Given the description of an element on the screen output the (x, y) to click on. 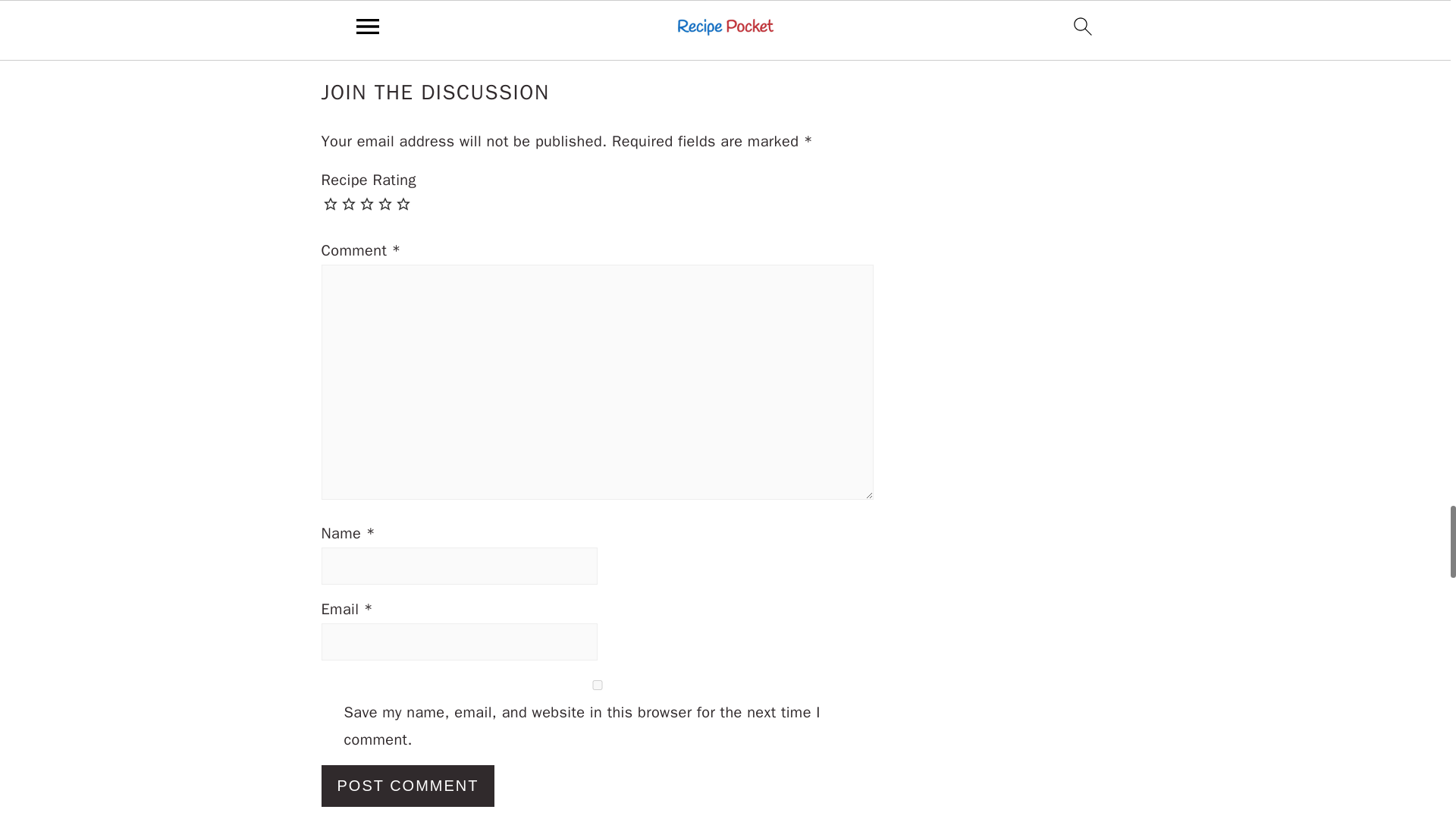
Post Comment (408, 785)
yes (597, 685)
